Given the description of an element on the screen output the (x, y) to click on. 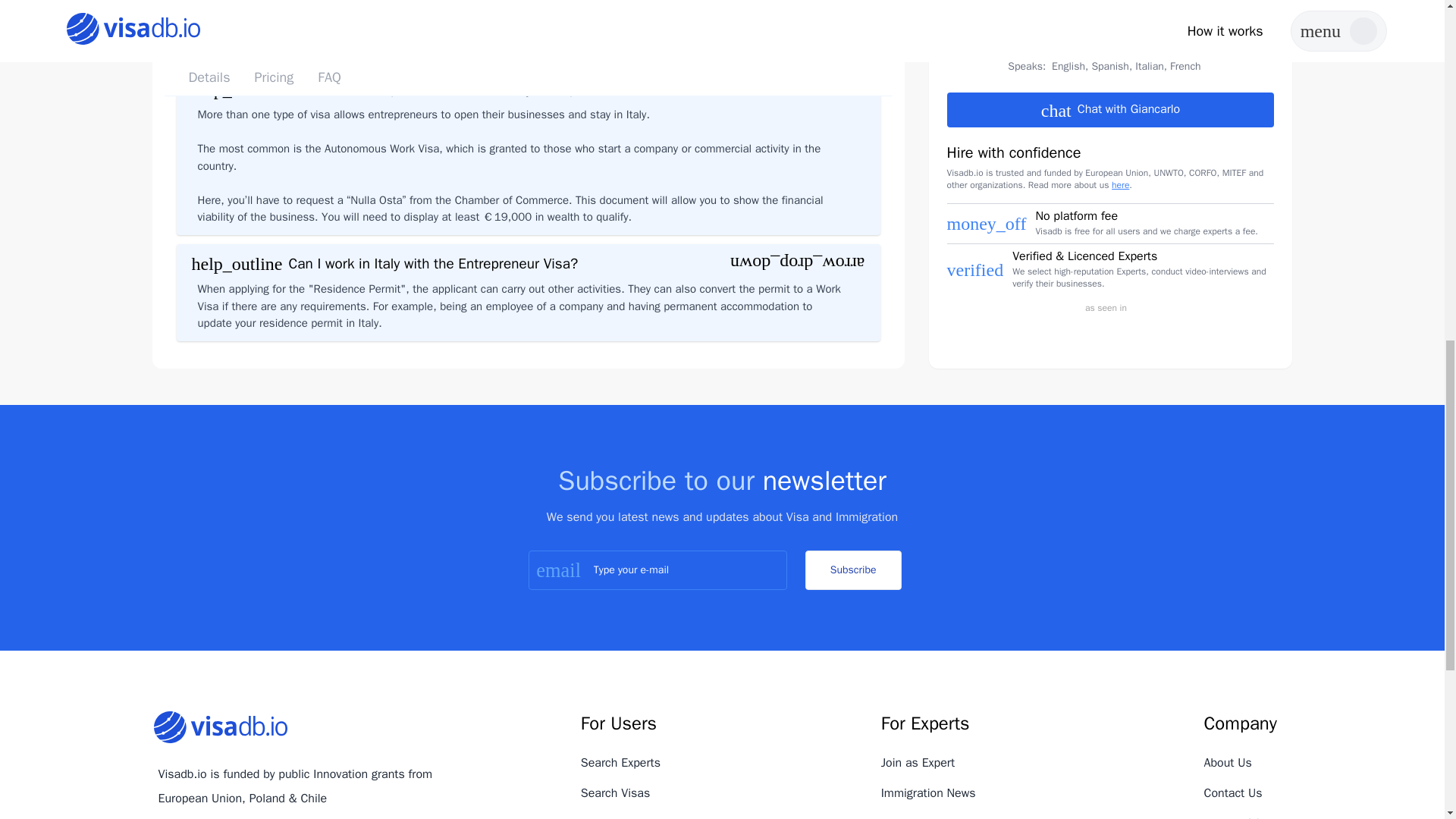
Blog (592, 817)
Immigration News (927, 792)
Join as Expert (917, 762)
Search Experts (620, 762)
Search Visas (614, 792)
About Us (1228, 762)
Terms of Service (1248, 817)
Visadb Logo (219, 727)
Contact Us (1233, 792)
Subscribe (853, 569)
